Given the description of an element on the screen output the (x, y) to click on. 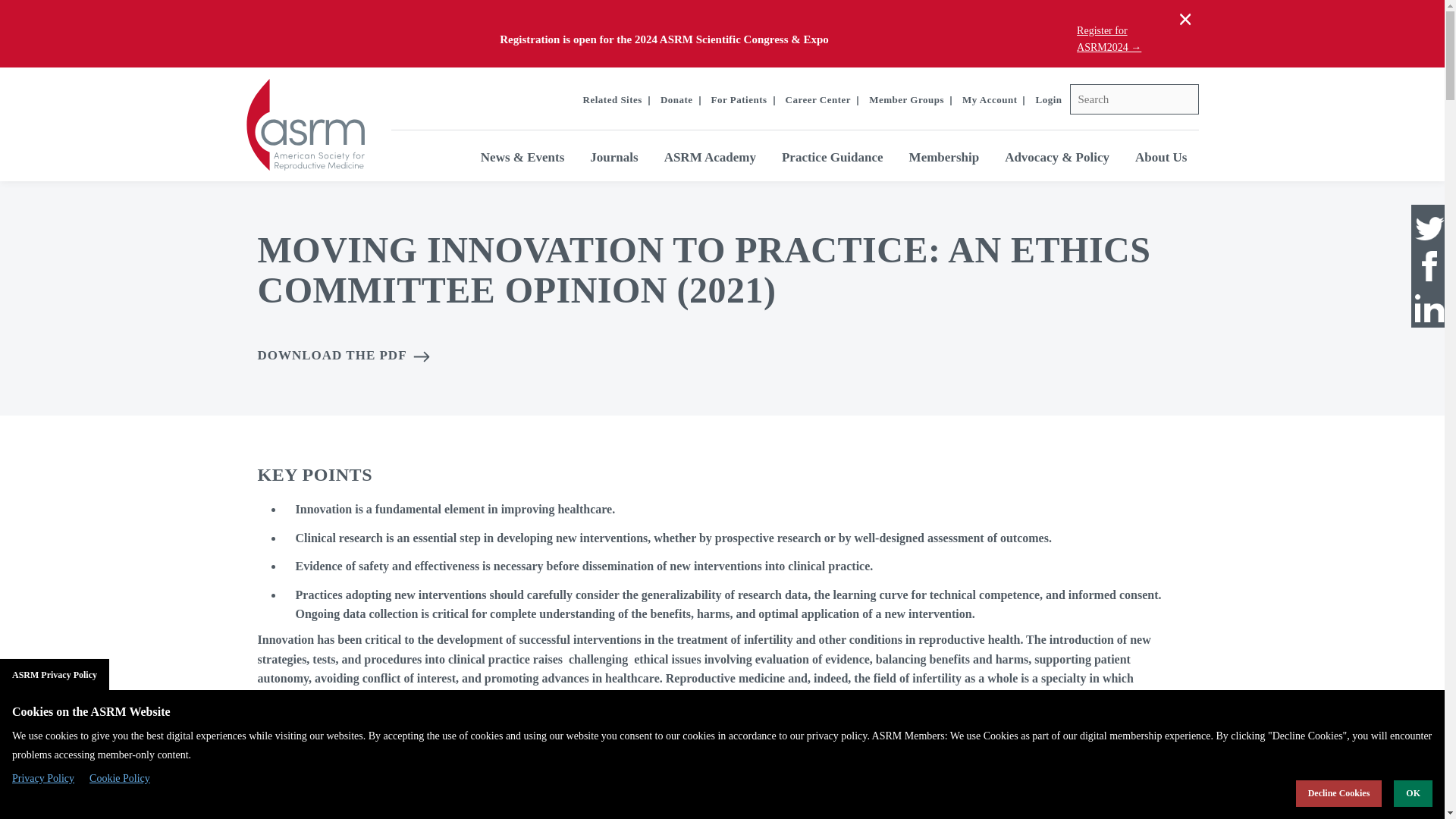
My Account (989, 99)
Journals (613, 156)
Related Sites (612, 99)
Login (1048, 99)
Member Groups (906, 99)
Donate (677, 99)
Career Center (818, 99)
ASRM Academy (709, 156)
For Patients (739, 99)
